Given the description of an element on the screen output the (x, y) to click on. 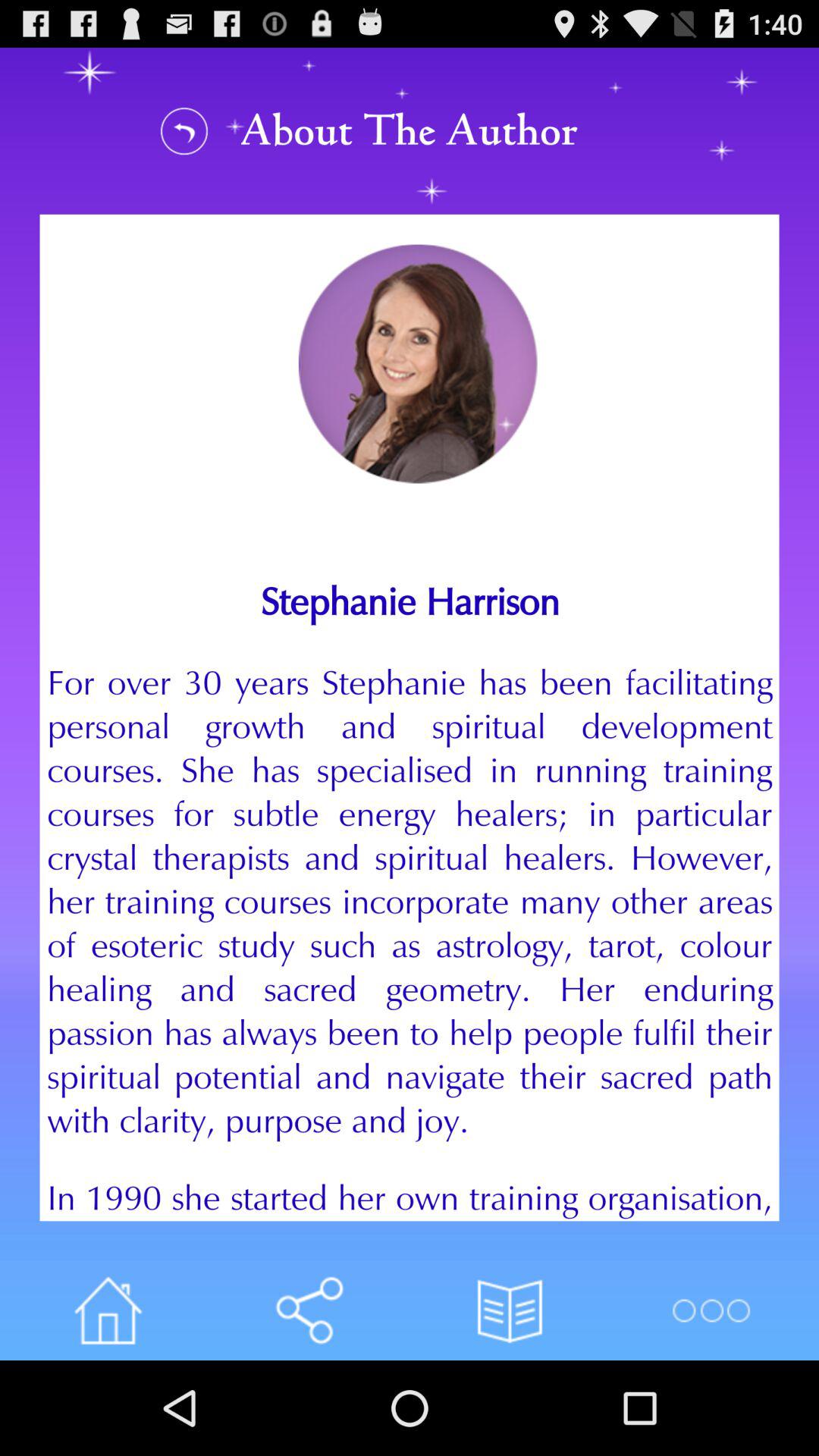
more (710, 1310)
